Given the description of an element on the screen output the (x, y) to click on. 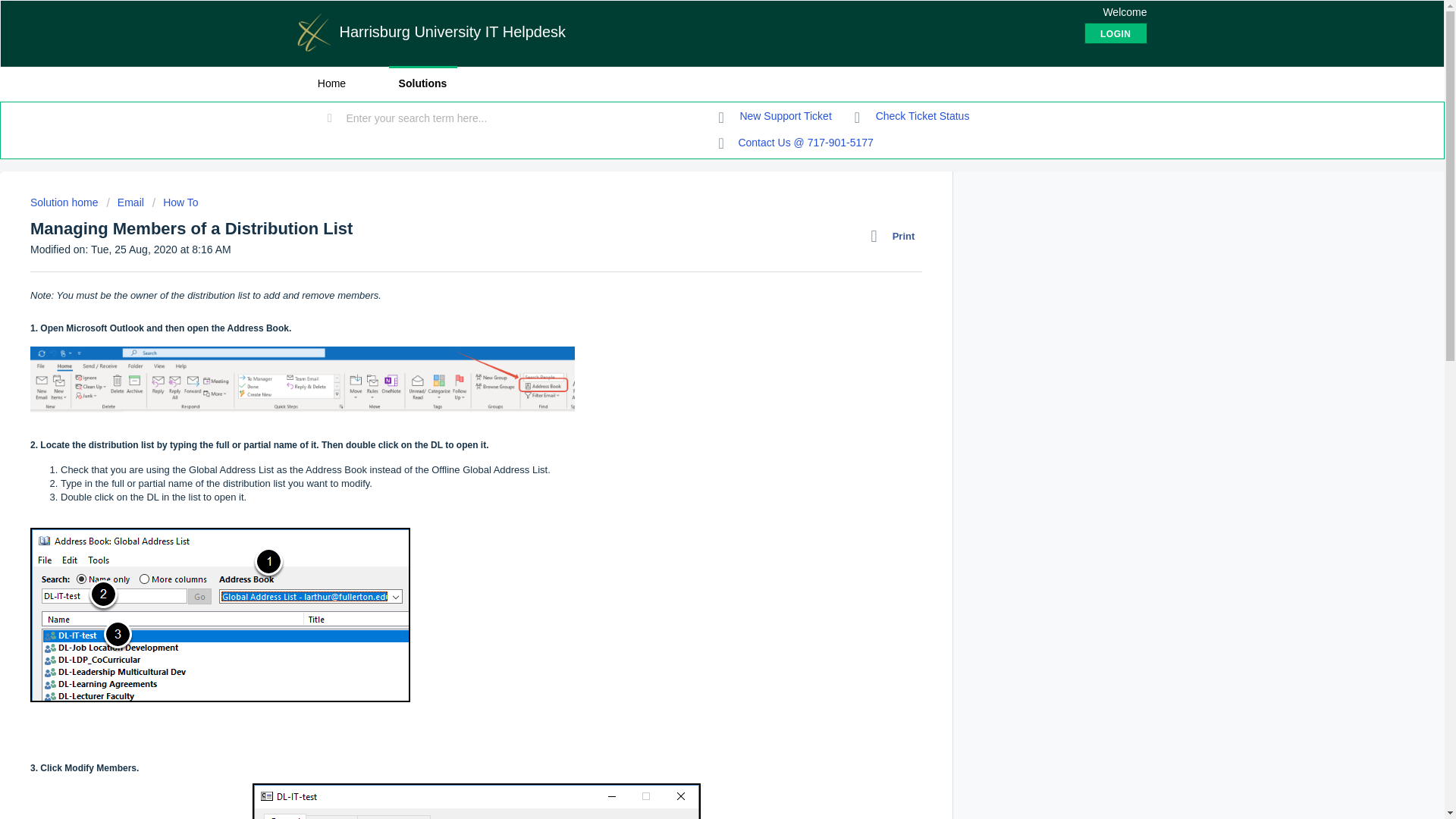
Print (896, 236)
New support ticket (775, 116)
Print this Article (896, 236)
Check ticket status (911, 116)
Home (331, 83)
LOGIN (1115, 33)
How To (175, 202)
Email (124, 202)
Solution home (65, 202)
Solutions (422, 83)
